Given the description of an element on the screen output the (x, y) to click on. 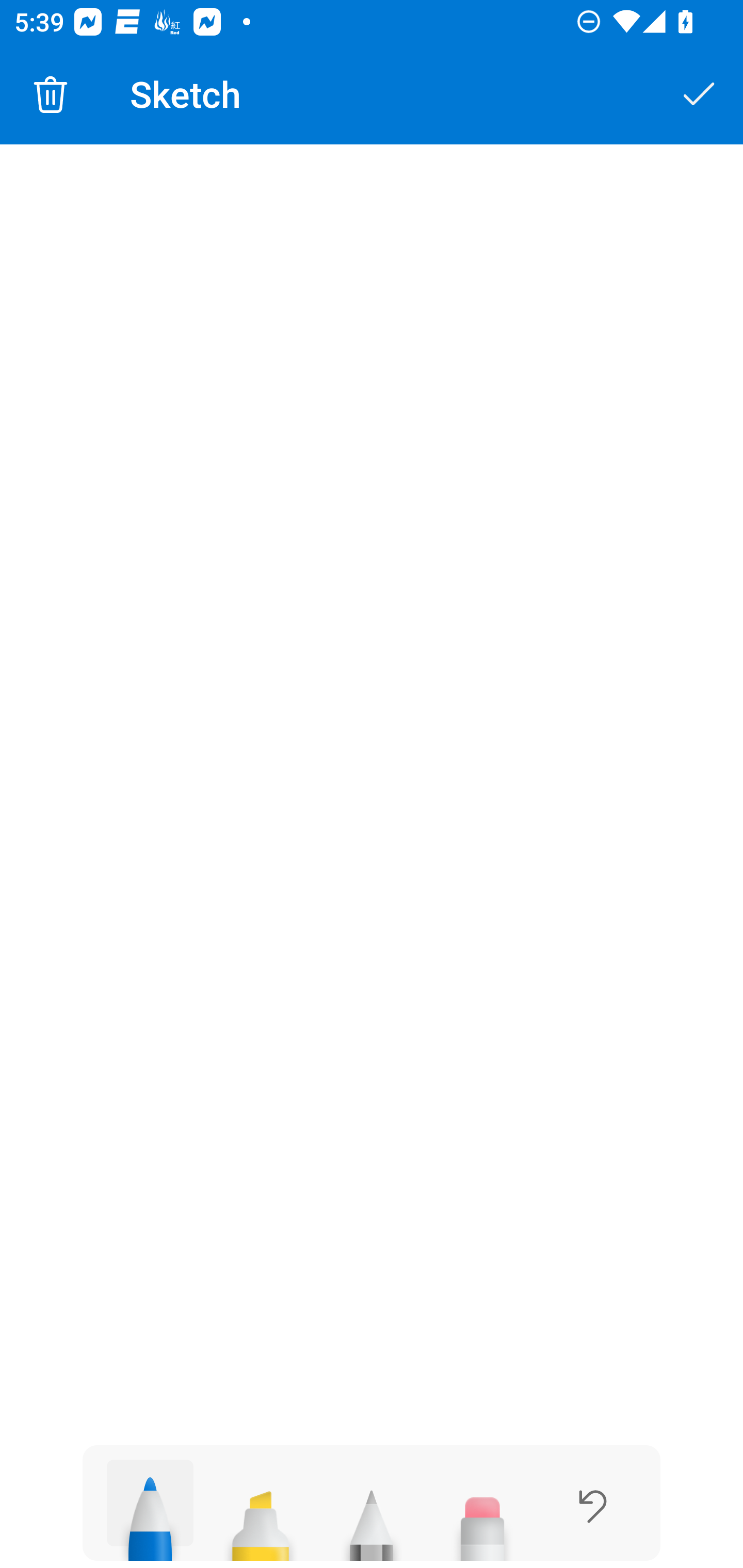
Delete Drawing (50, 93)
Save (699, 93)
Pen tool (149, 1509)
Undo last stroke (592, 1505)
Highlighter tool (259, 1517)
Pencil tool (371, 1517)
Eraser tool (482, 1517)
